Given the description of an element on the screen output the (x, y) to click on. 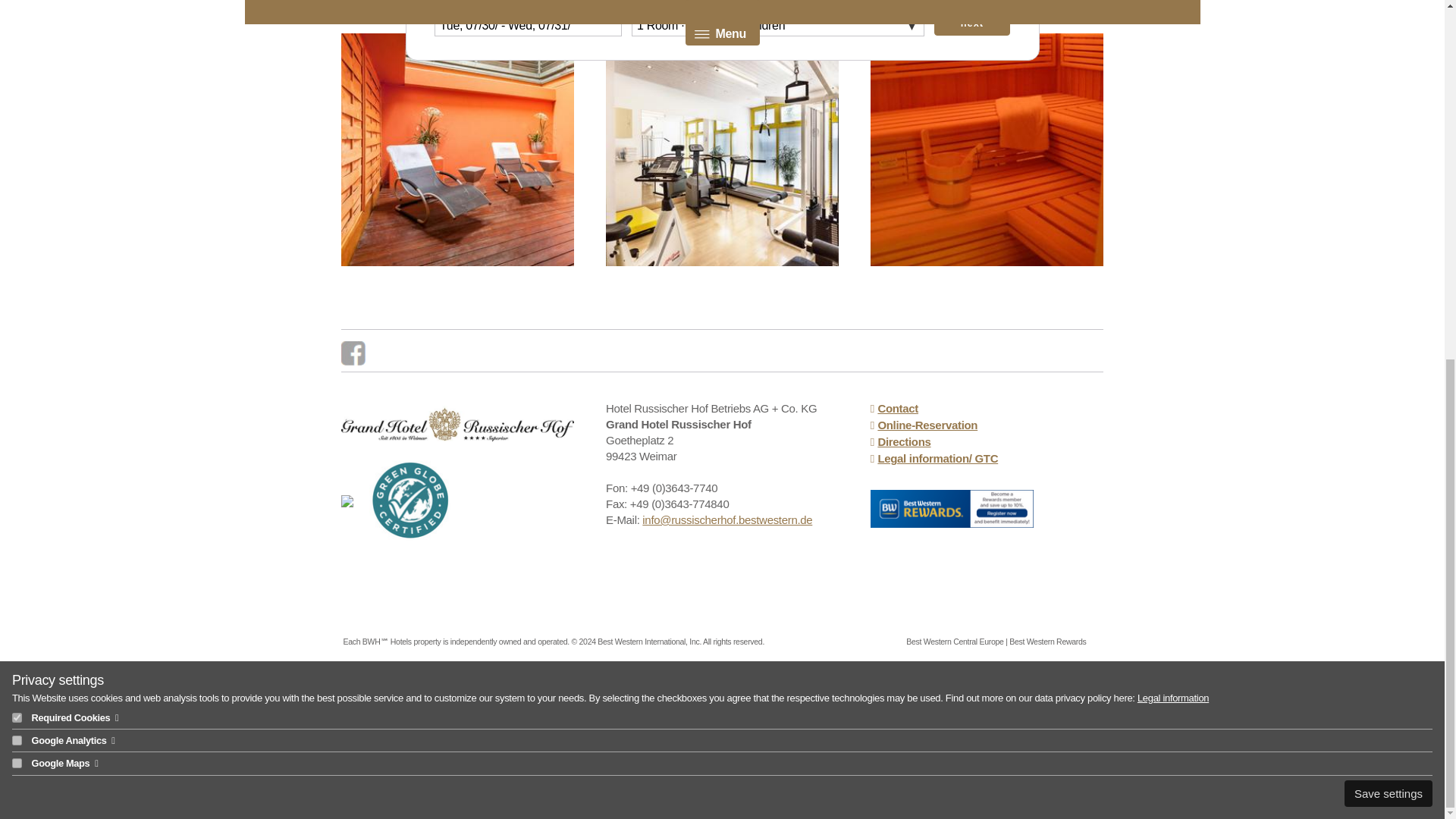
on (16, 127)
Save settings (1387, 157)
on (16, 104)
on (16, 81)
